Given the description of an element on the screen output the (x, y) to click on. 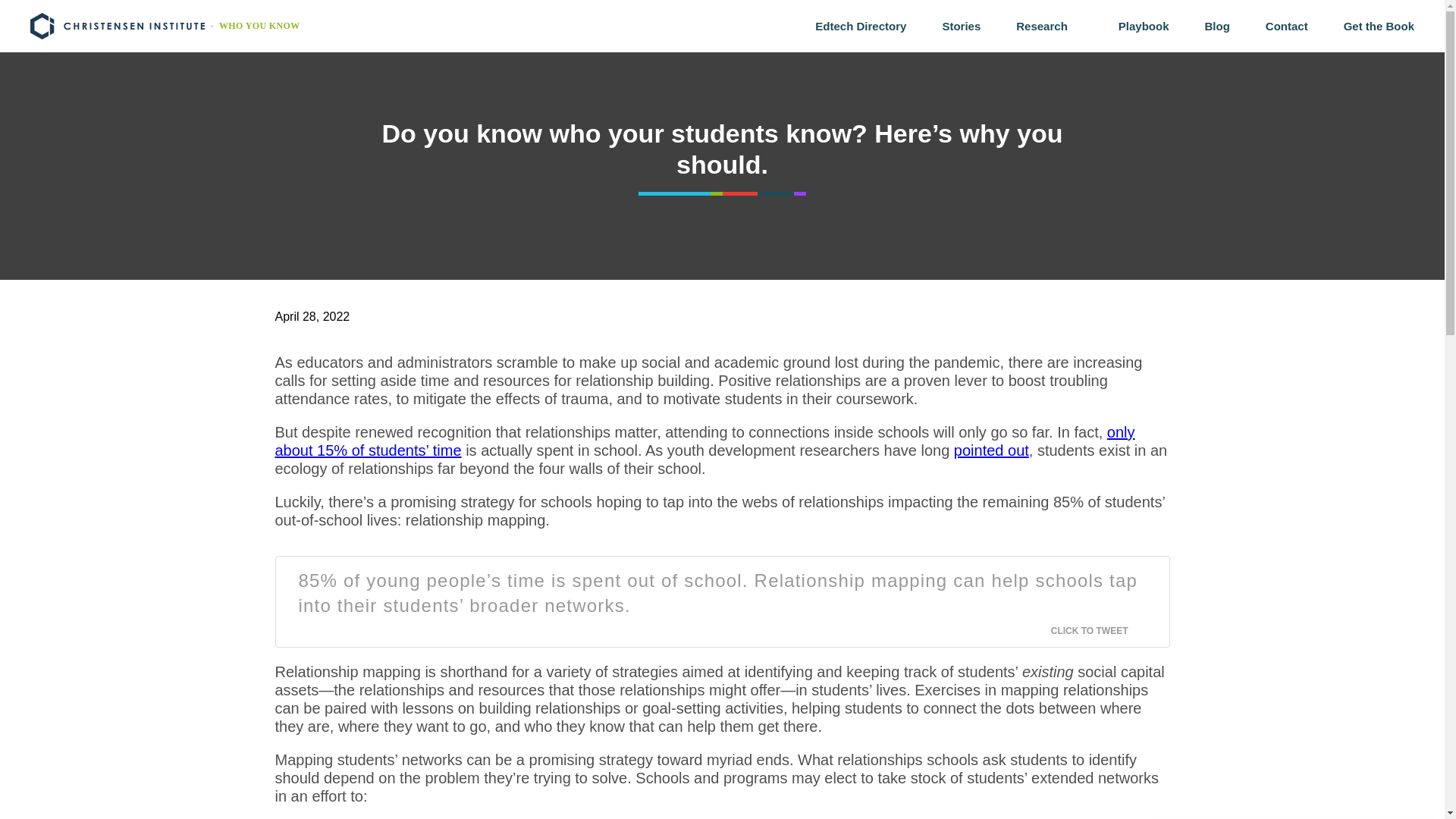
Contact (1286, 26)
Blog (1216, 26)
Get the Book (1378, 26)
CLICK TO TWEET (1099, 630)
Stories (960, 26)
Edtech Directory (860, 26)
WHO YOU KNOW (259, 25)
Playbook (1143, 26)
Research (1049, 26)
pointed out (991, 450)
